Given the description of an element on the screen output the (x, y) to click on. 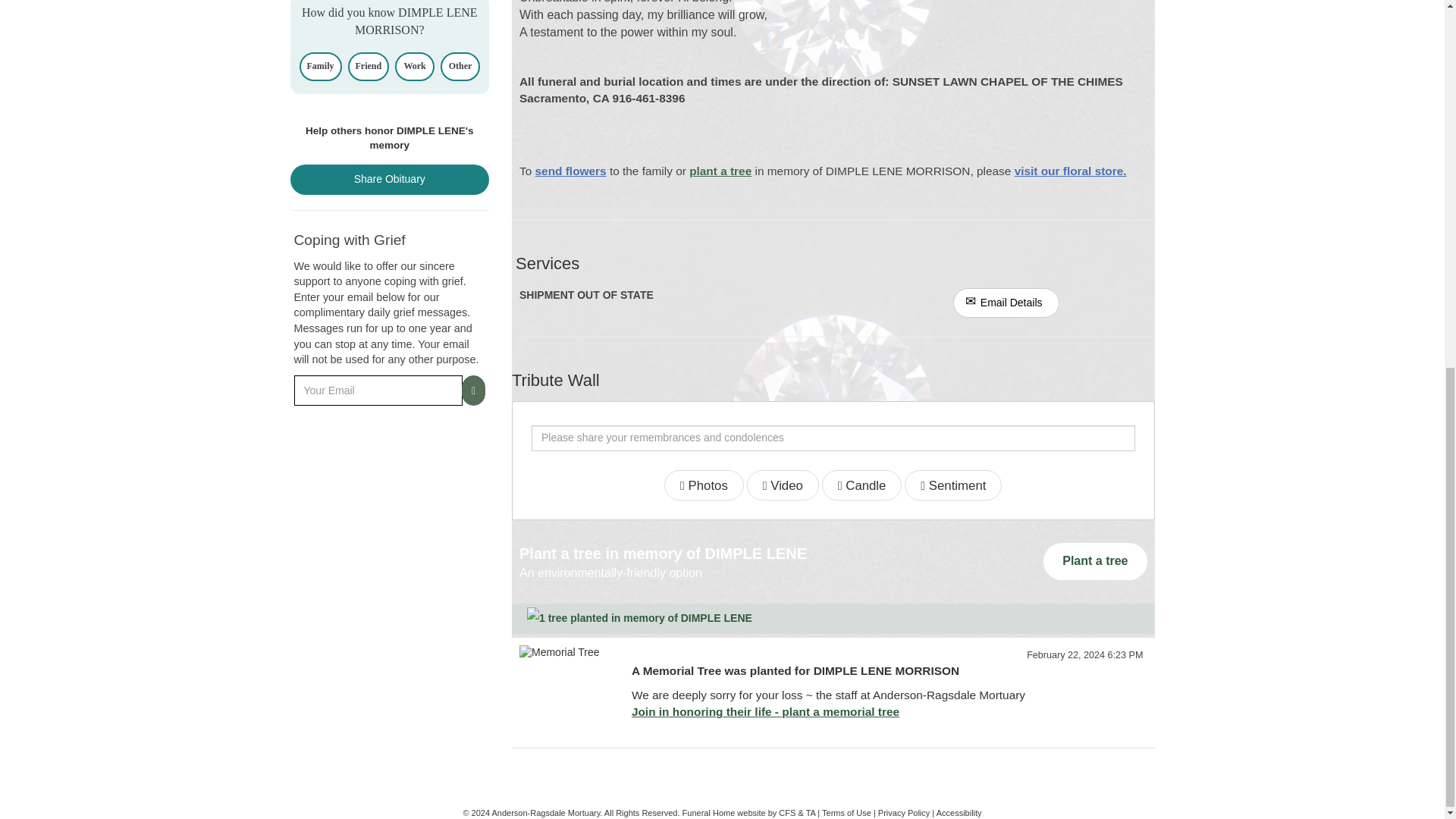
send flowers (571, 170)
visit our floral store. (1070, 170)
Share Obituary (389, 179)
Email Details (1006, 302)
plant a tree (719, 170)
Plant a tree (1095, 561)
CFS (786, 812)
Join in honoring their life - plant a memorial tree (765, 711)
Plant a tree (1095, 560)
